Given the description of an element on the screen output the (x, y) to click on. 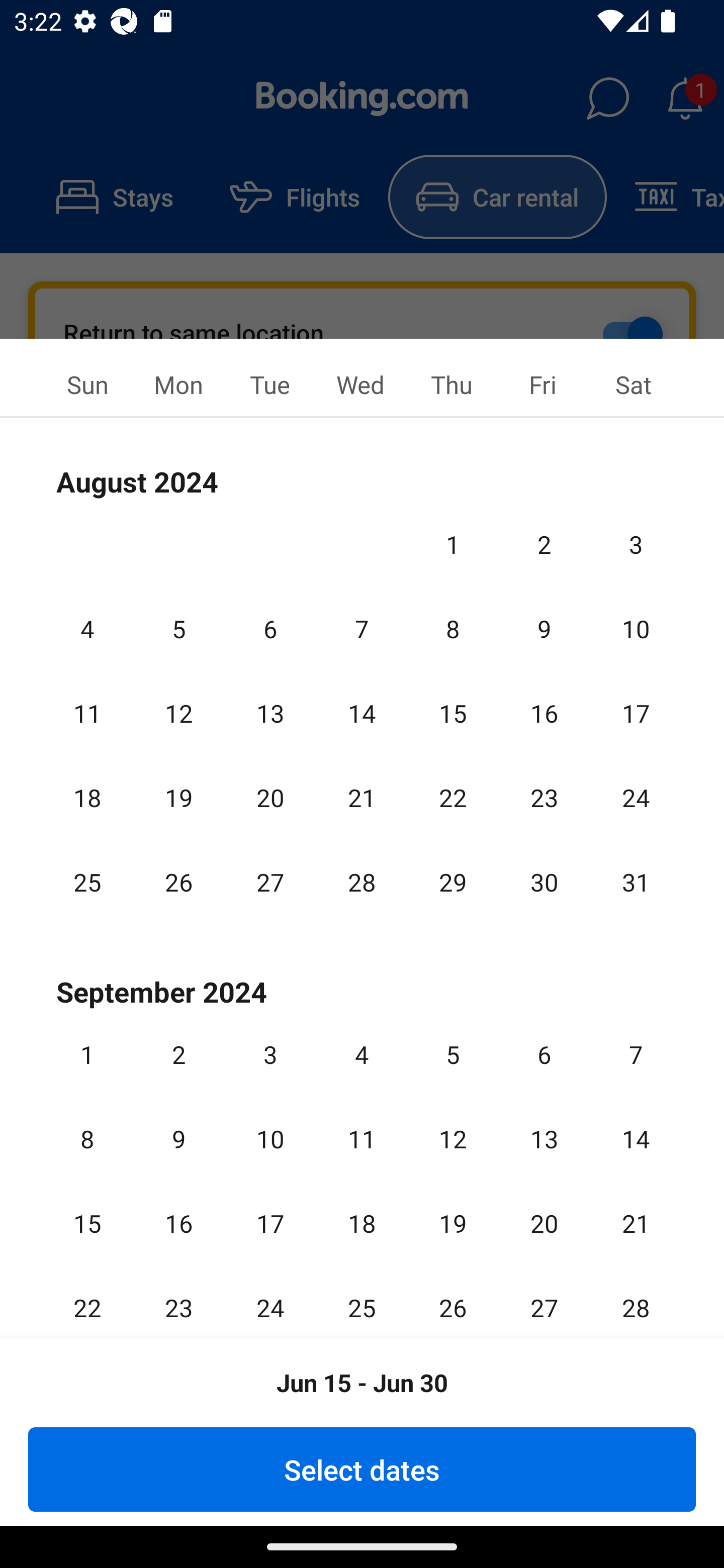
Select dates (361, 1468)
